Given the description of an element on the screen output the (x, y) to click on. 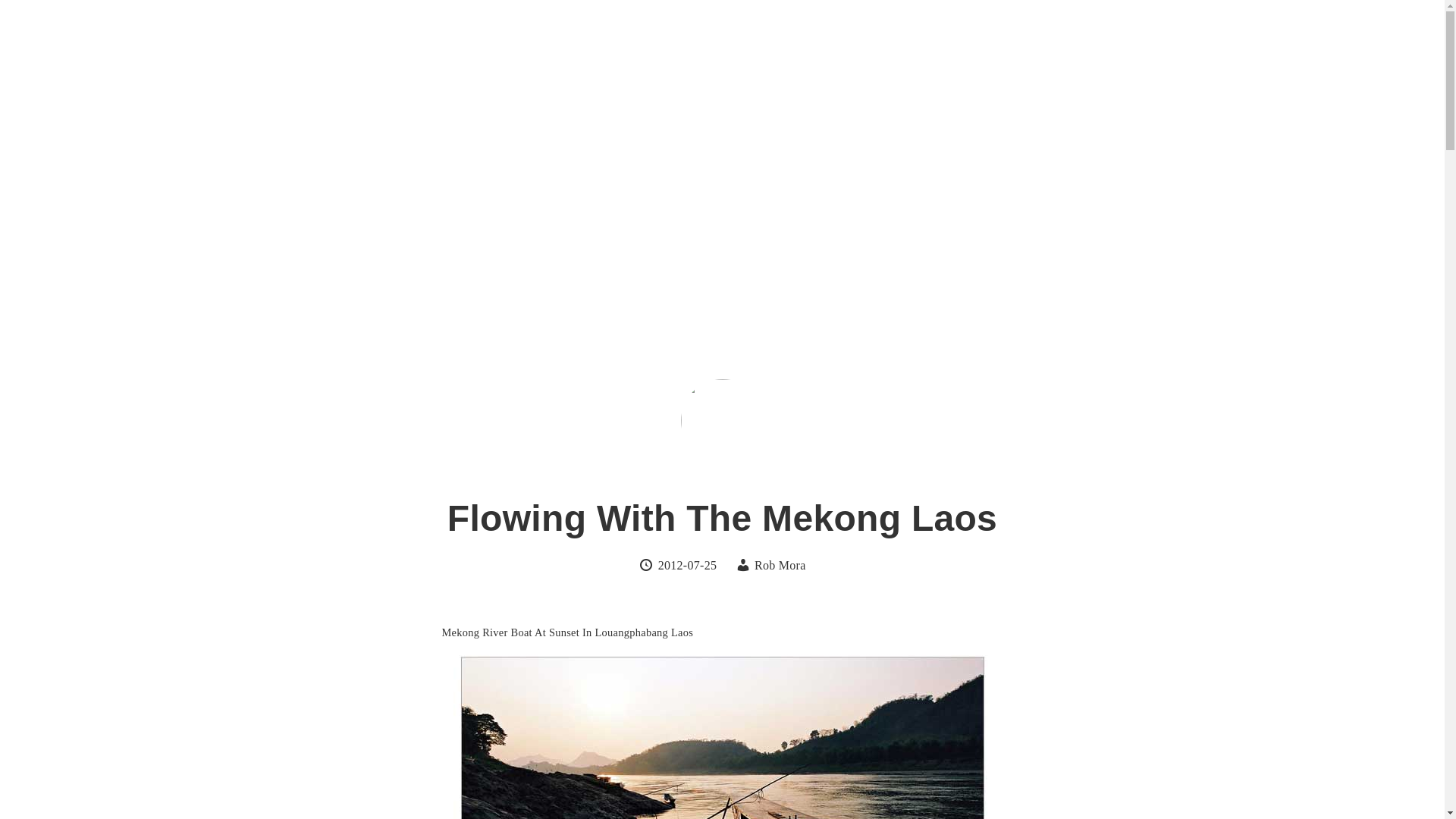
CONTACT (1115, 51)
About Robert Mora Photographer (852, 51)
Rob Mora (780, 564)
ARCHIVES (1015, 51)
Sitemap (1015, 51)
SLATESIDE PHOTOGRAPHY (376, 65)
ABOUT (852, 51)
Contact Photographer Robert Mora (1115, 51)
Photographer blog (928, 51)
BLOG (928, 51)
